Given the description of an element on the screen output the (x, y) to click on. 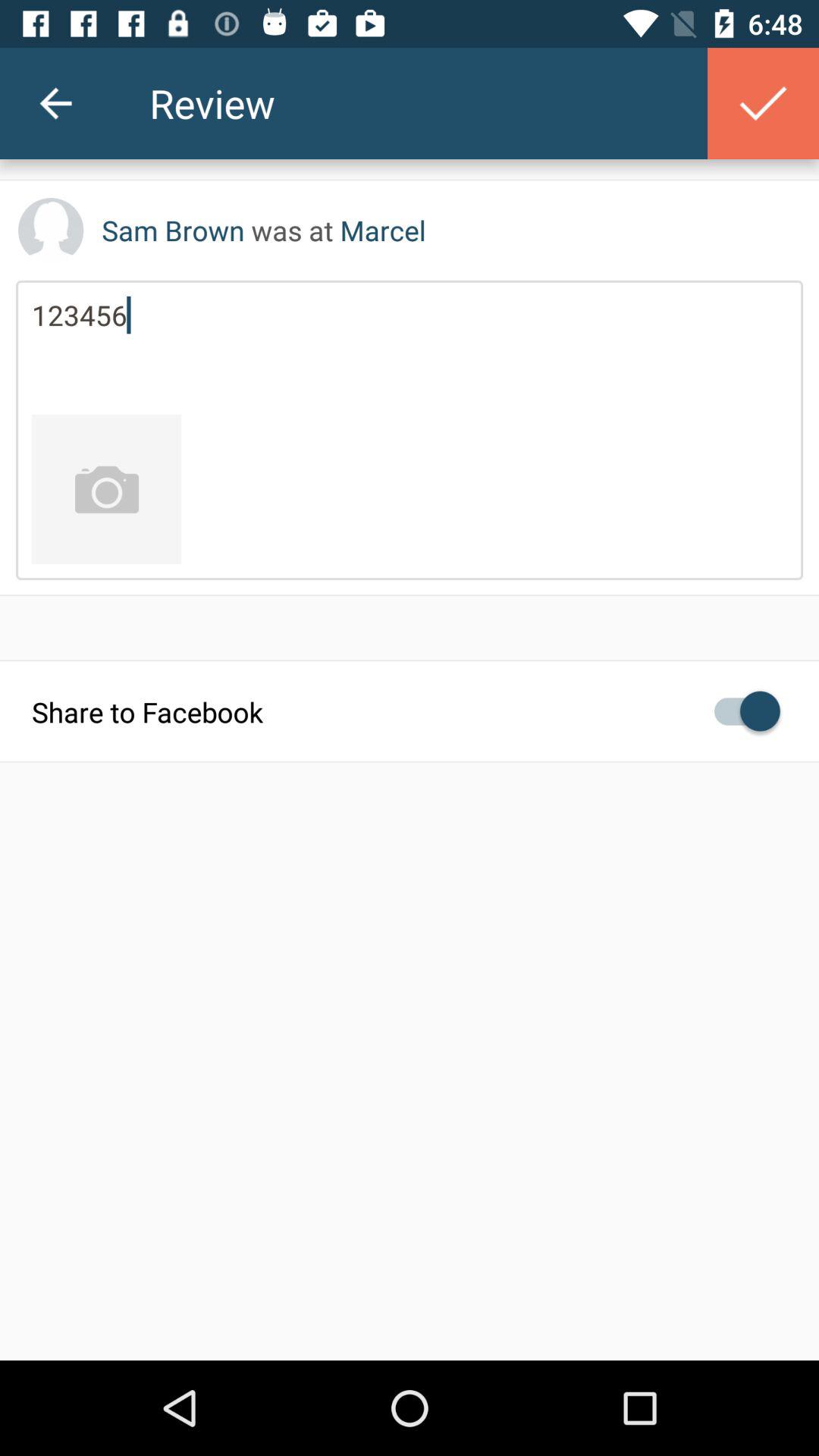
turn on item next to the review (763, 103)
